Given the description of an element on the screen output the (x, y) to click on. 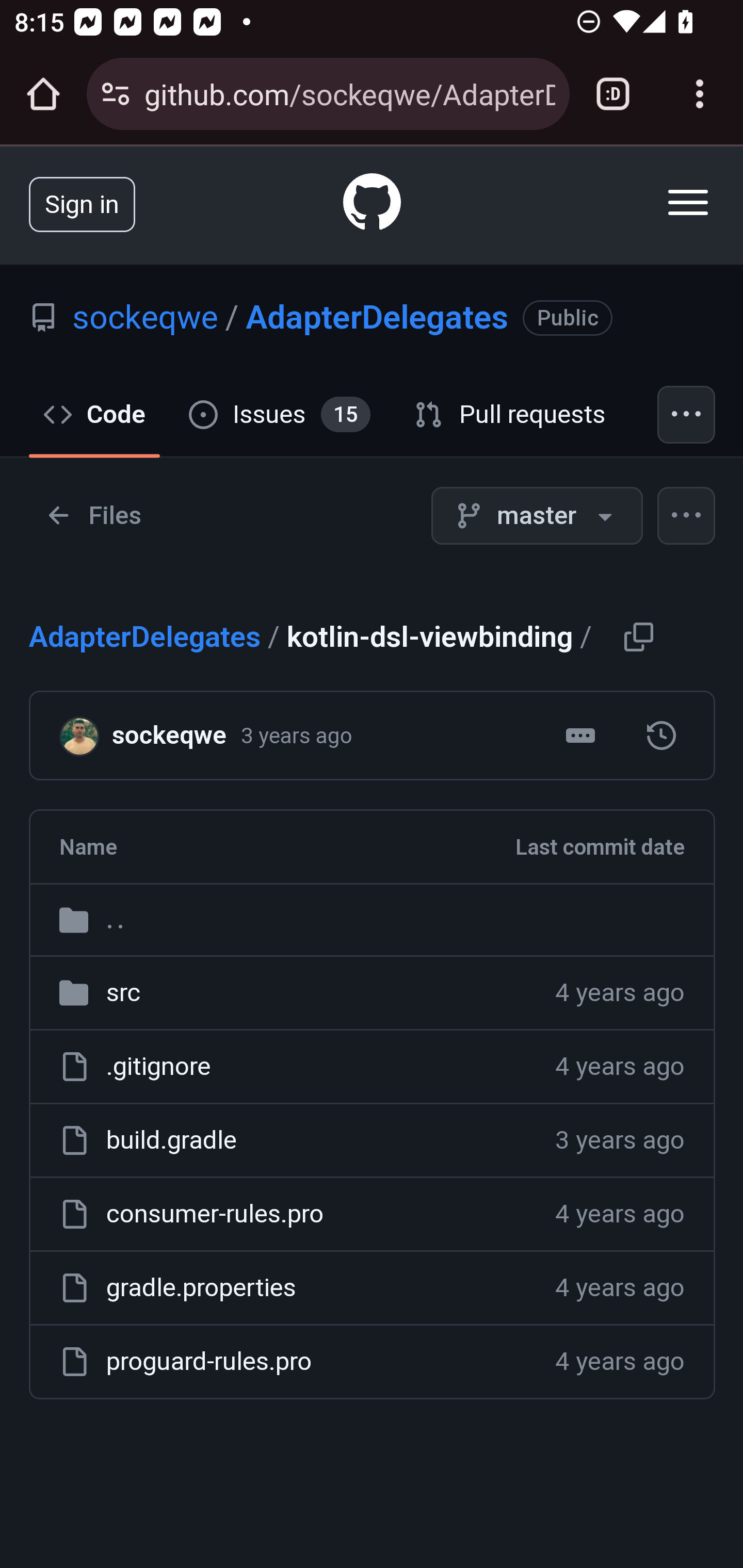
Open the home page (43, 93)
Connection is secure (115, 93)
Switch or close tabs (612, 93)
Customize and control Google Chrome (699, 93)
Homepage (372, 205)
Toggle navigation (688, 202)
Sign in (81, 203)
sockeqwe (145, 317)
AdapterDelegates (376, 317)
Additional navigation options (686, 413)
Code (94, 413)
Issues 15 Issues 15 (279, 413)
Pull requests (510, 413)
Expand file tree (93, 515)
master branch (536, 515)
More options (686, 515)
Copy path (638, 635)
AdapterDelegates (144, 636)
Open commit details (580, 735)
kotlin-dsl-viewbinding (661, 735)
sockeqwe (85, 734)
commits by sockeqwe sockeqwe (168, 735)
Parent directory .. (371, 919)
src, (Directory) src (122, 992)
.gitignore, (File) .gitignore (157, 1066)
build.gradle, (File) build.gradle (171, 1139)
consumer-rules.pro, (File) consumer-rules.pro (214, 1213)
gradle.properties, (File) gradle.properties (200, 1288)
proguard-rules.pro, (File) proguard-rules.pro (208, 1361)
